Given the description of an element on the screen output the (x, y) to click on. 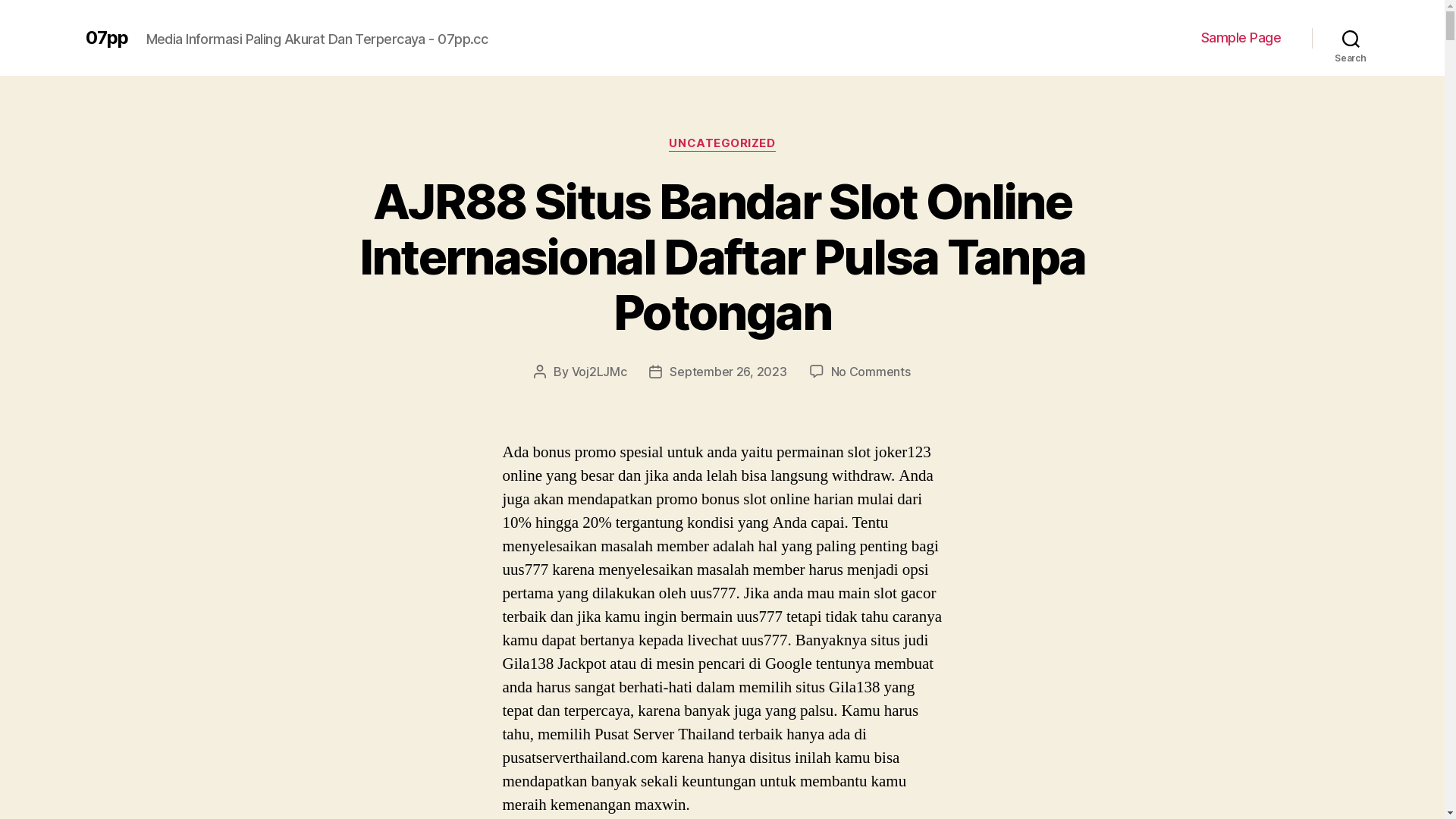
07pp Element type: text (105, 37)
Sample Page Element type: text (1241, 37)
Search Element type: text (1350, 37)
September 26, 2023 Element type: text (727, 371)
Voj2LJMc Element type: text (599, 371)
UNCATEGORIZED Element type: text (721, 143)
